Given the description of an element on the screen output the (x, y) to click on. 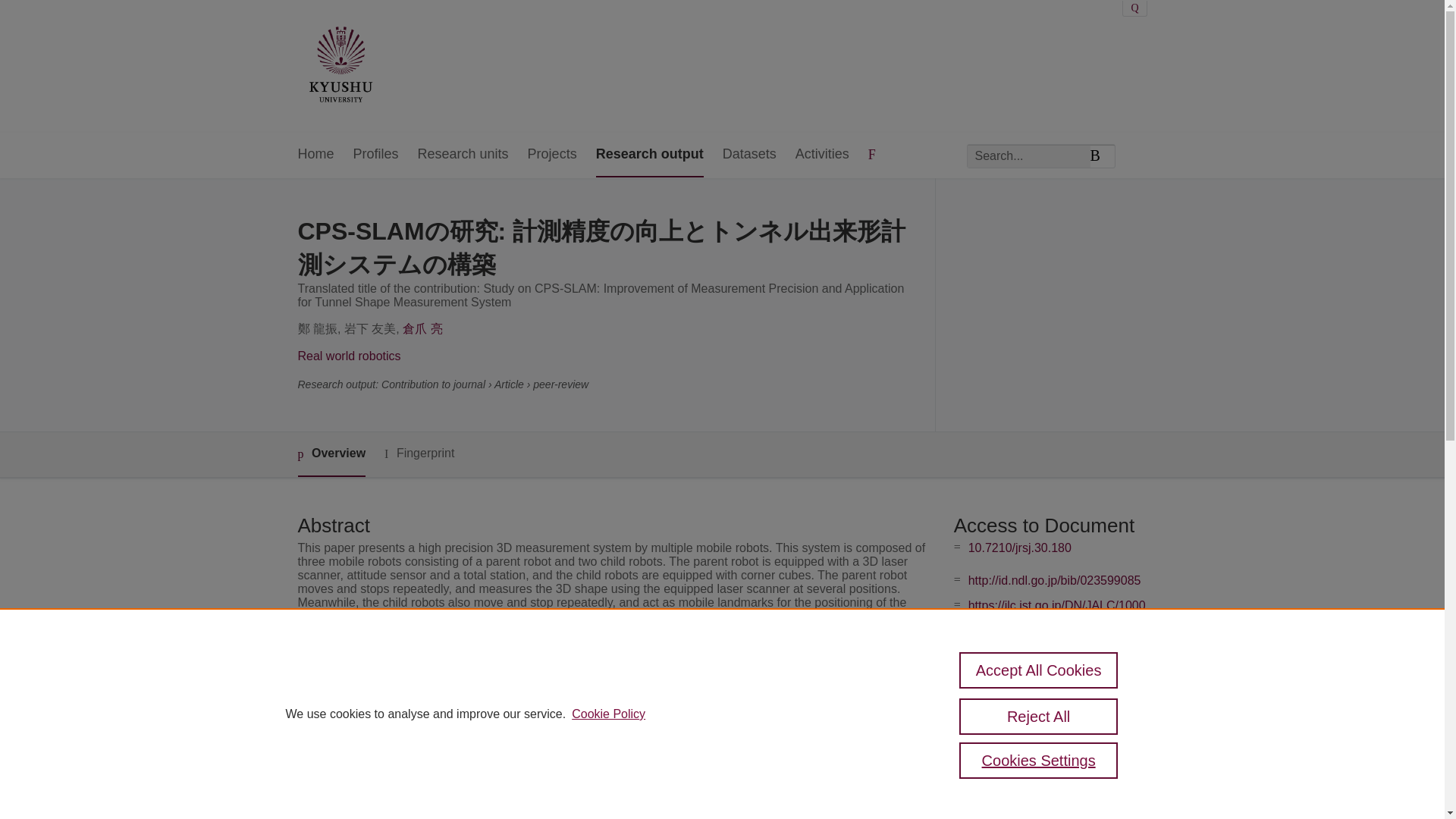
Fingerprint (419, 453)
Overview (331, 454)
Profiles (375, 154)
Projects (551, 154)
Research units (462, 154)
Real world robotics (348, 355)
Activities (821, 154)
Research output (649, 154)
Datasets (749, 154)
